Given the description of an element on the screen output the (x, y) to click on. 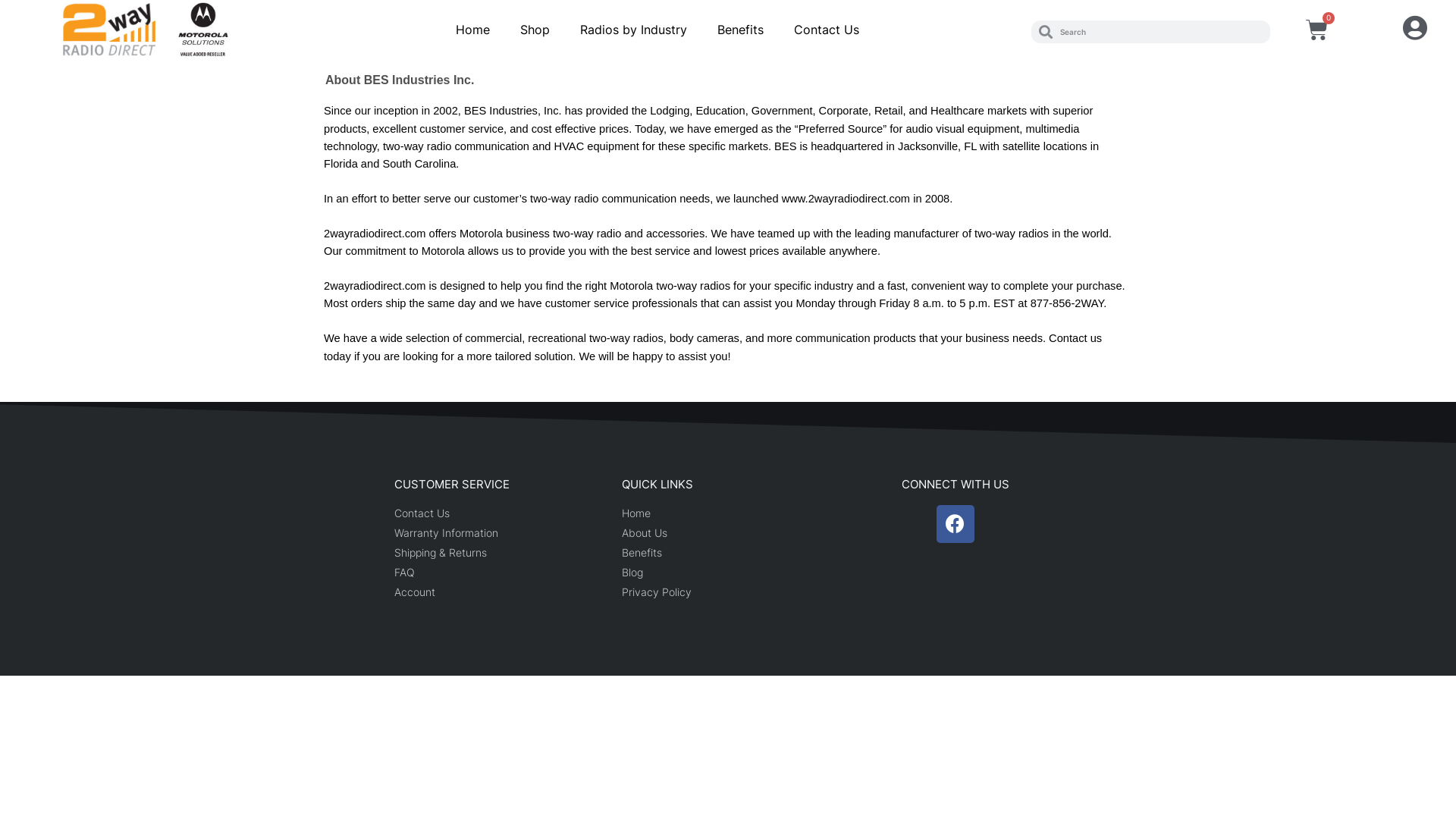
Shop Element type: text (534, 29)
Warranty Information Element type: text (500, 532)
Benefits Element type: text (727, 552)
0 Element type: text (1316, 29)
Privacy Policy Element type: text (727, 591)
Blog Element type: text (727, 572)
Home Element type: text (727, 512)
Shipping & Returns Element type: text (500, 552)
Contact Us Element type: text (500, 512)
Benefits Element type: text (740, 29)
Radios by Industry Element type: text (633, 29)
Home Element type: text (472, 29)
FAQ Element type: text (500, 572)
Account Element type: text (500, 591)
Contact Us Element type: text (826, 29)
About Us Element type: text (727, 532)
